Given the description of an element on the screen output the (x, y) to click on. 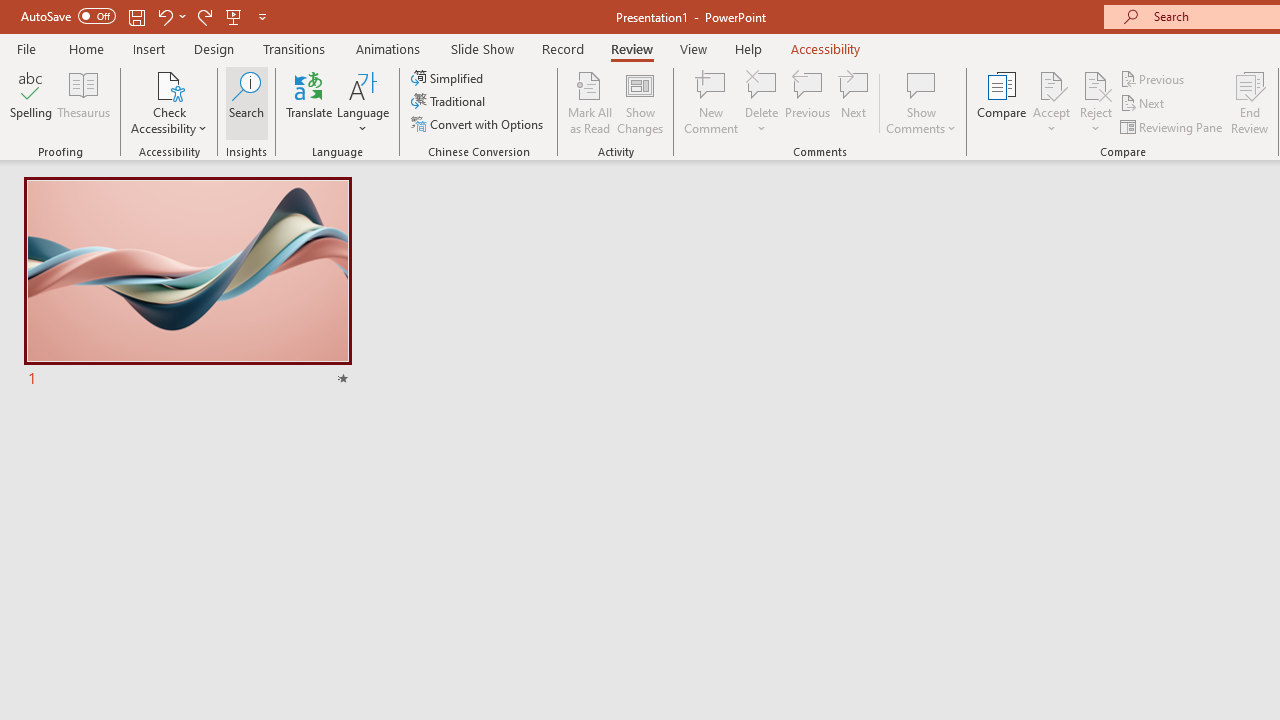
Thesaurus... (83, 102)
Language (363, 102)
Show Changes (639, 102)
Delete (762, 84)
New Comment (711, 102)
Convert with Options... (479, 124)
Reject (1096, 102)
